Given the description of an element on the screen output the (x, y) to click on. 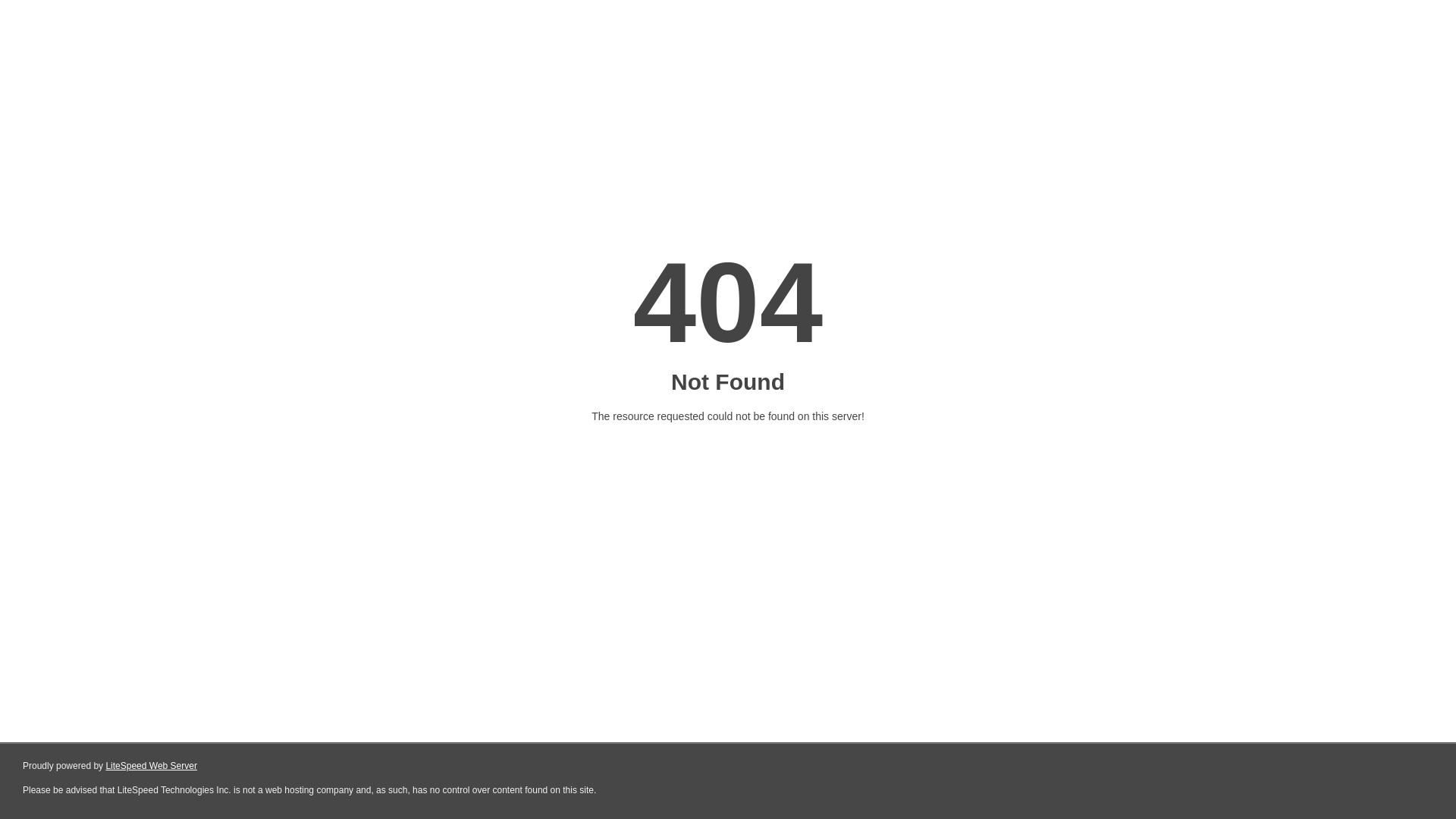
LiteSpeed Web Server Element type: text (151, 765)
